Given the description of an element on the screen output the (x, y) to click on. 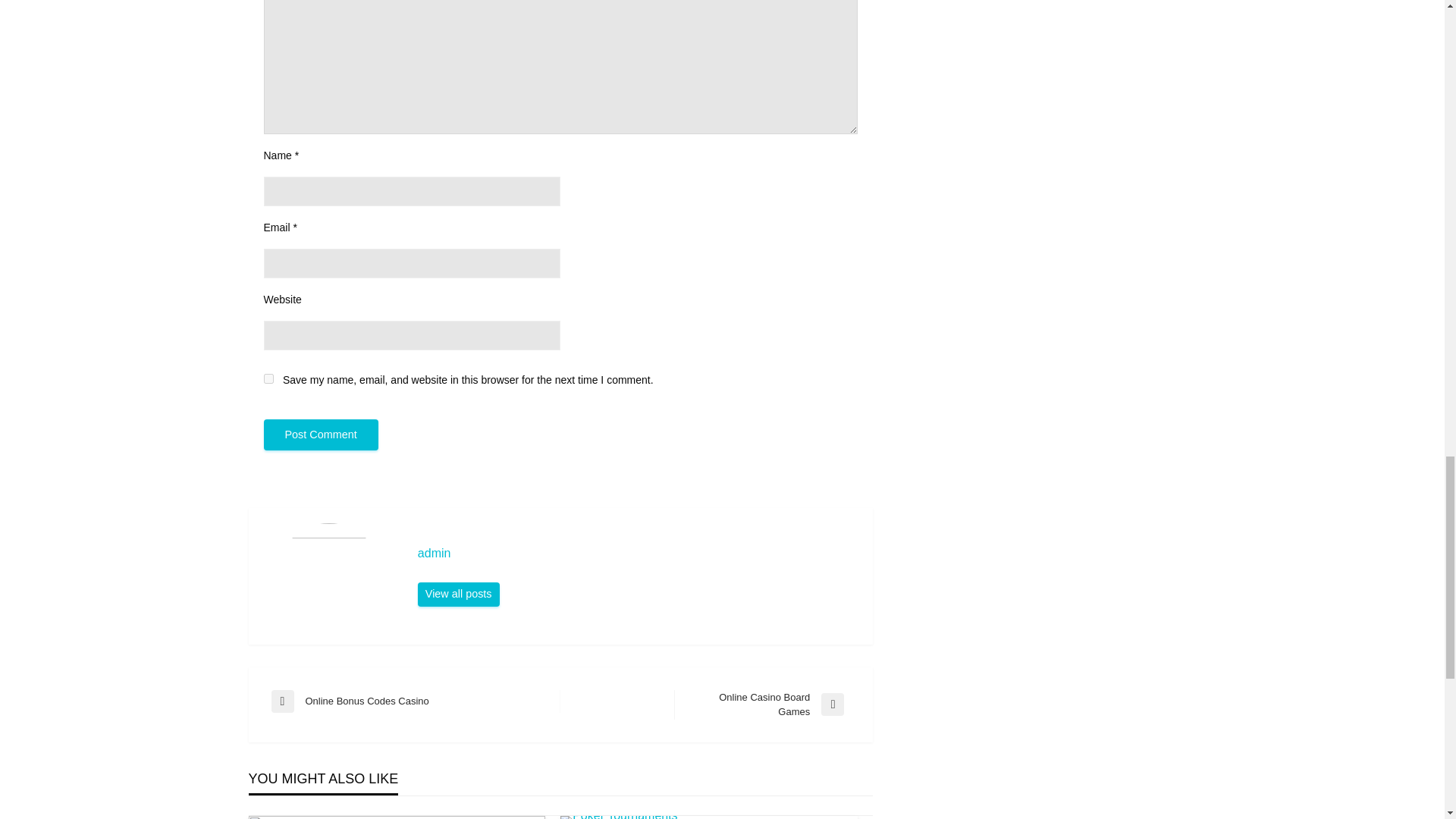
admin (637, 553)
admin (415, 701)
Post Comment (761, 704)
View all posts (637, 553)
Post Comment (320, 434)
admin (458, 594)
yes (320, 434)
